Given the description of an element on the screen output the (x, y) to click on. 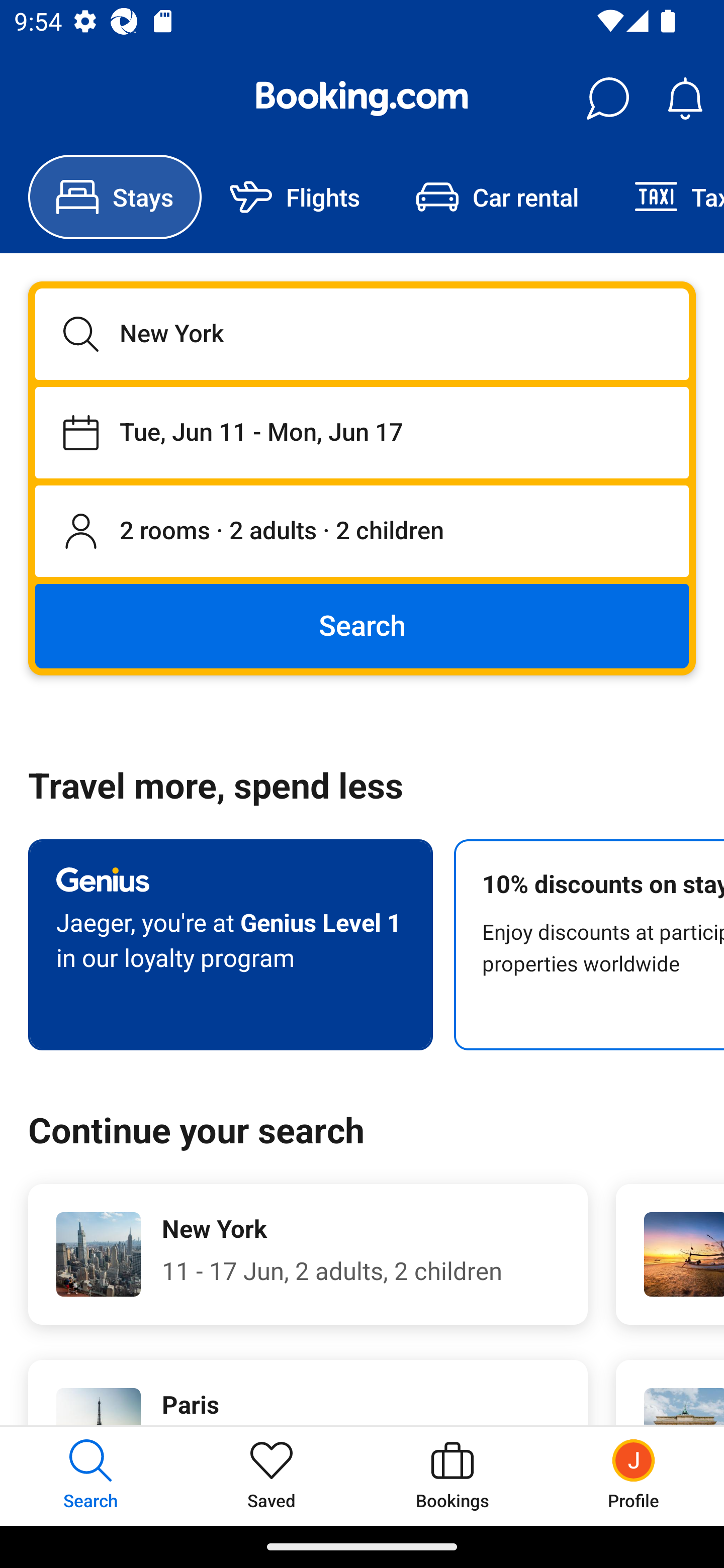
Messages (607, 98)
Notifications (685, 98)
Stays (114, 197)
Flights (294, 197)
Car rental (497, 197)
Taxi (665, 197)
New York (361, 333)
Staying from Tue, Jun 11 until Mon, Jun 17 (361, 432)
2 rooms, 2 adults, 2 children (361, 531)
Search (361, 625)
New York 11 - 17 Jun, 2 adults, 2 children (307, 1253)
Saved (271, 1475)
Bookings (452, 1475)
Profile (633, 1475)
